Given the description of an element on the screen output the (x, y) to click on. 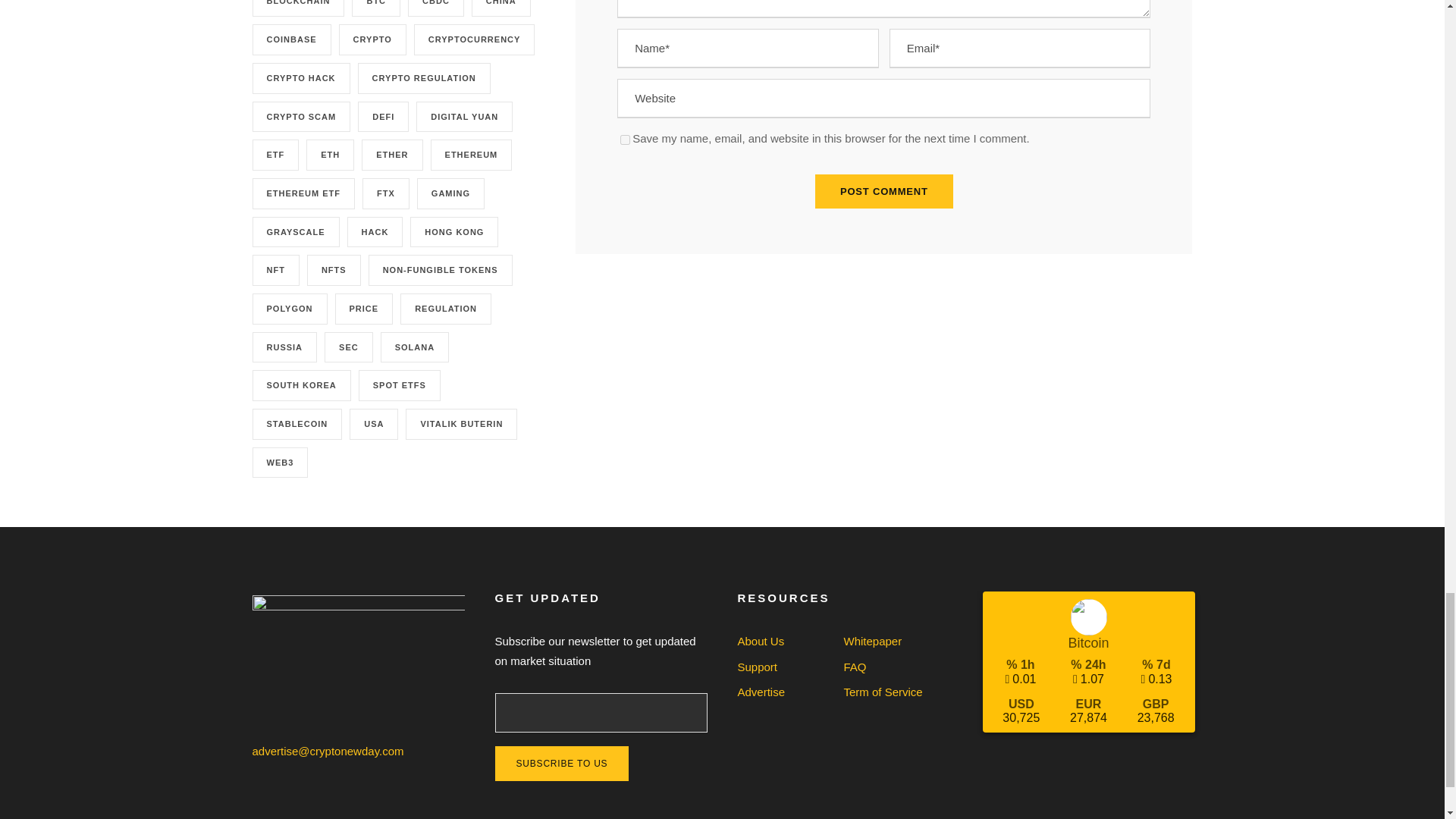
Subscribe to us (561, 763)
yes (625, 139)
Post Comment (884, 191)
